Given the description of an element on the screen output the (x, y) to click on. 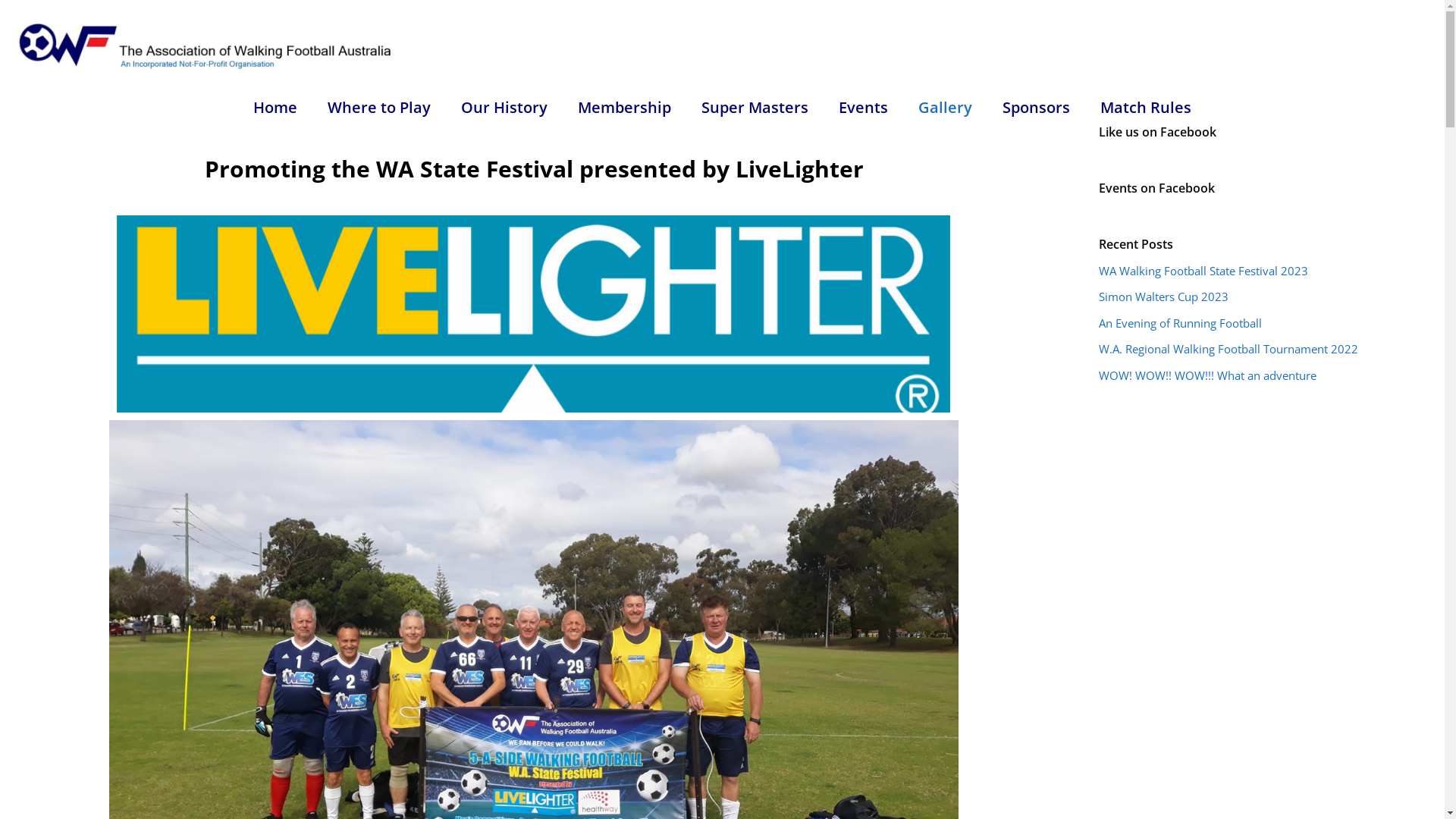
AWFAI Element type: hover (206, 45)
AWFAI Element type: hover (206, 46)
WOW! WOW!! WOW!!! What an adventure Element type: text (1207, 374)
Match Rules Element type: text (1145, 107)
WA Walking Football State Festival 2023 Element type: text (1203, 269)
Simon Walters Cup 2023 Element type: text (1163, 296)
Events Element type: text (863, 107)
An Evening of Running Football Element type: text (1179, 322)
Where to Play Element type: text (378, 107)
Home Element type: text (275, 107)
Membership Element type: text (624, 107)
Sponsors Element type: text (1036, 107)
Gallery Element type: text (945, 107)
Super Masters Element type: text (754, 107)
Our History Element type: text (503, 107)
W.A. Regional Walking Football Tournament 2022 Element type: text (1228, 348)
